Given the description of an element on the screen output the (x, y) to click on. 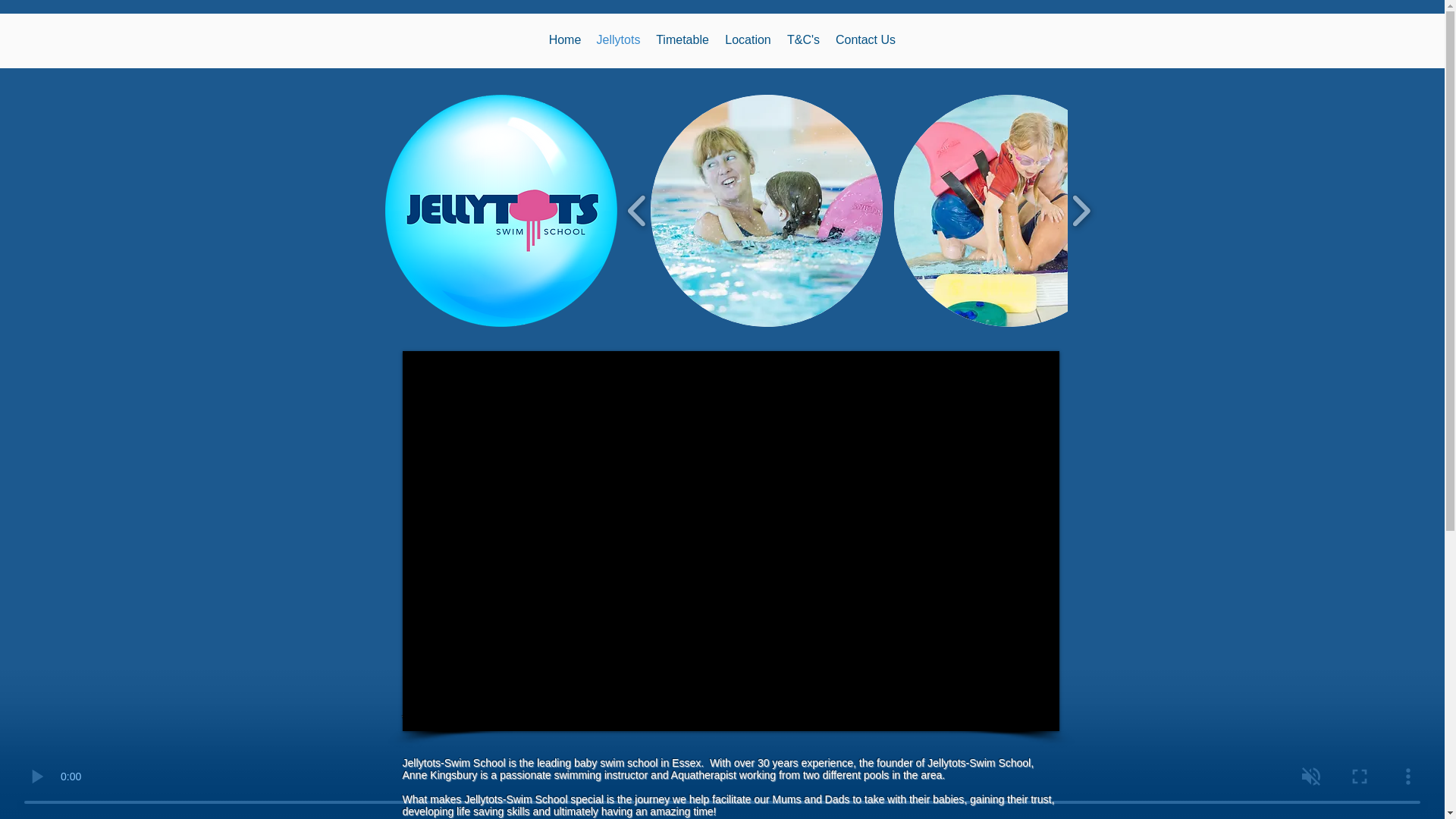
Timetable (681, 40)
Jellytots (617, 40)
Location (747, 40)
Home (565, 40)
Contact Us (866, 40)
